Given the description of an element on the screen output the (x, y) to click on. 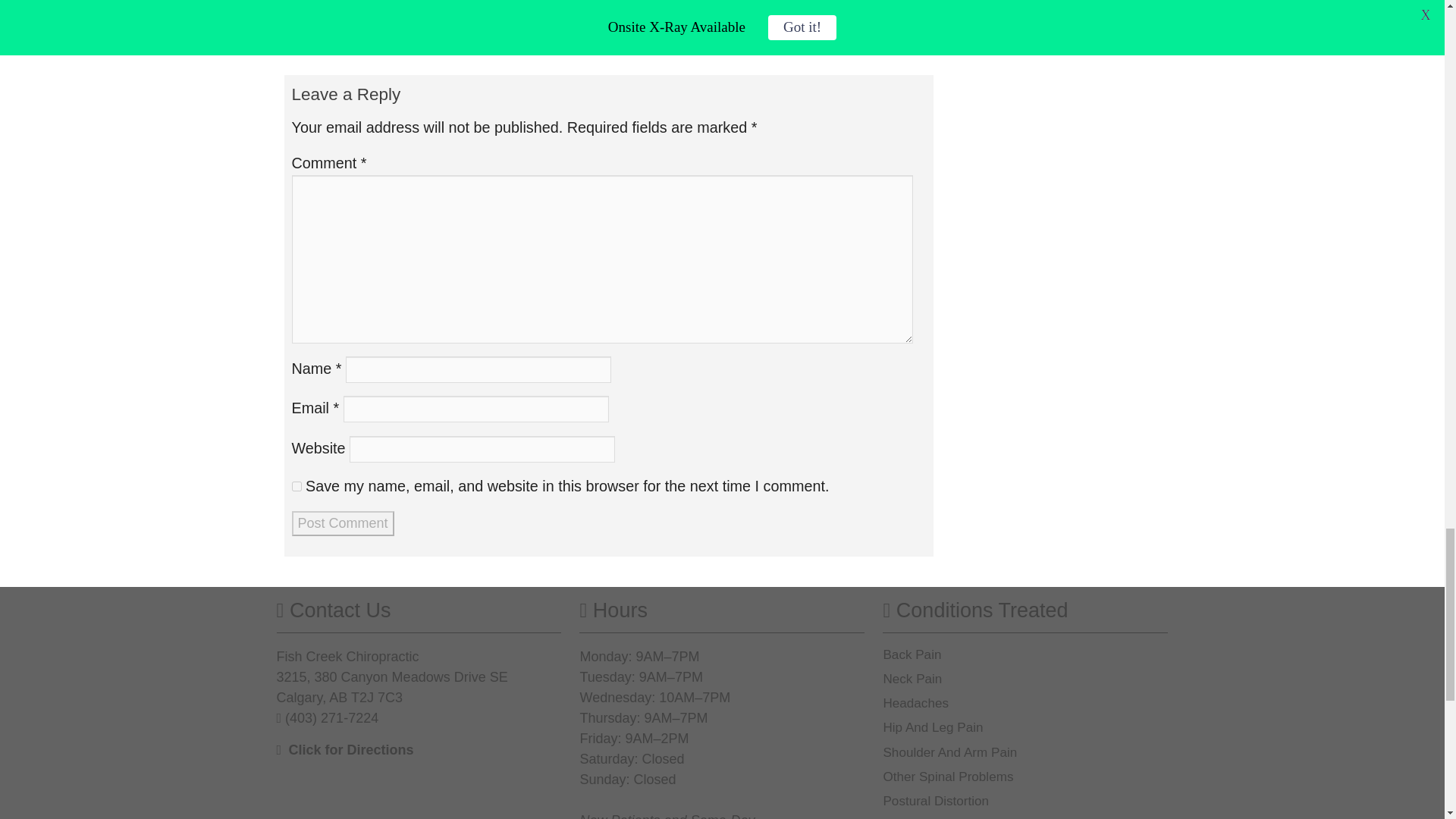
yes (296, 486)
Post Comment (342, 523)
